Given the description of an element on the screen output the (x, y) to click on. 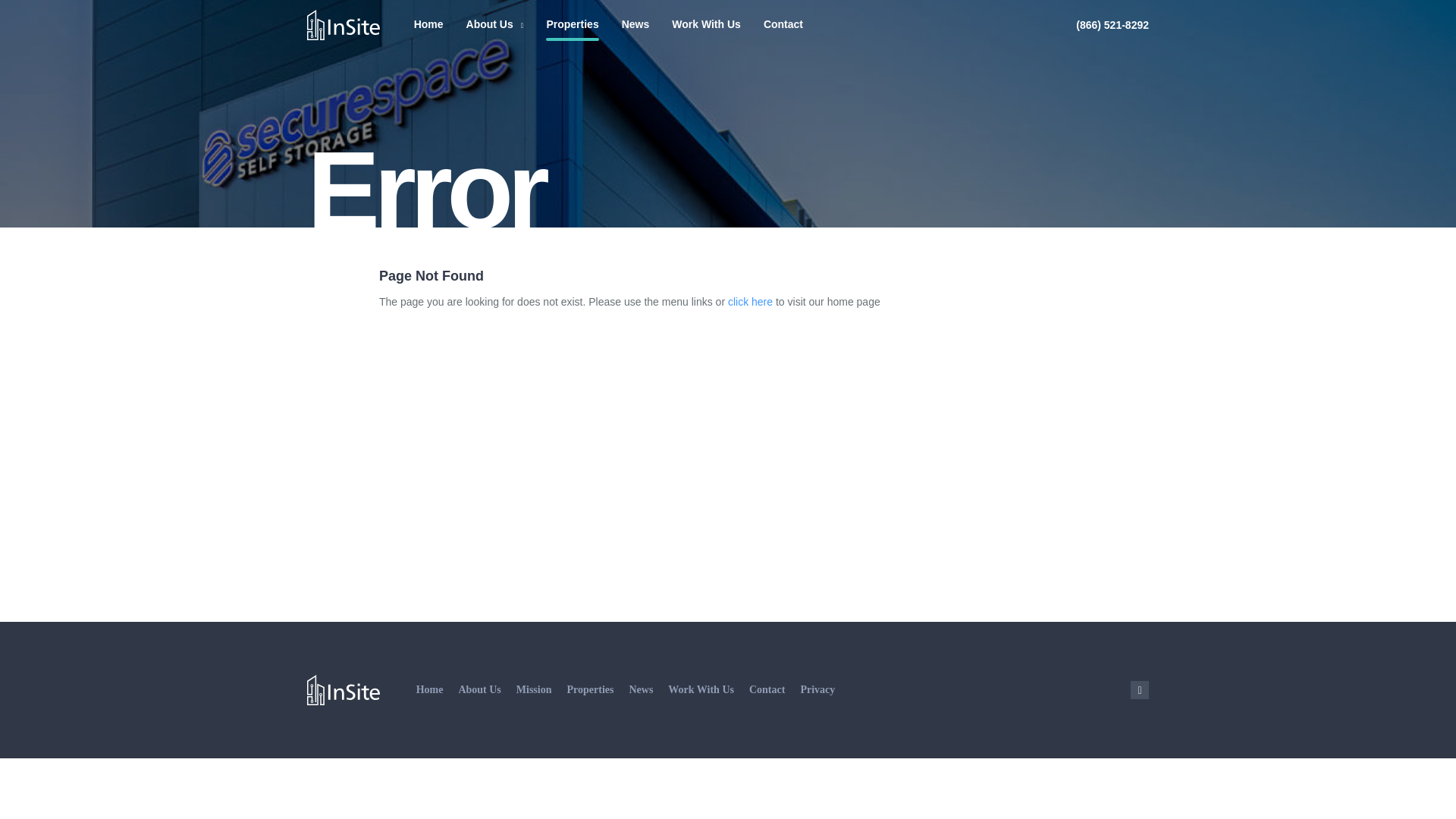
About Us (479, 689)
Contact (782, 23)
Properties (572, 23)
Privacy (816, 689)
About Us (494, 24)
Work With Us (706, 23)
Home (430, 689)
click here (750, 301)
Contact (766, 689)
Mission (533, 689)
Properties (590, 689)
News (640, 689)
Work With Us (700, 689)
